Given the description of an element on the screen output the (x, y) to click on. 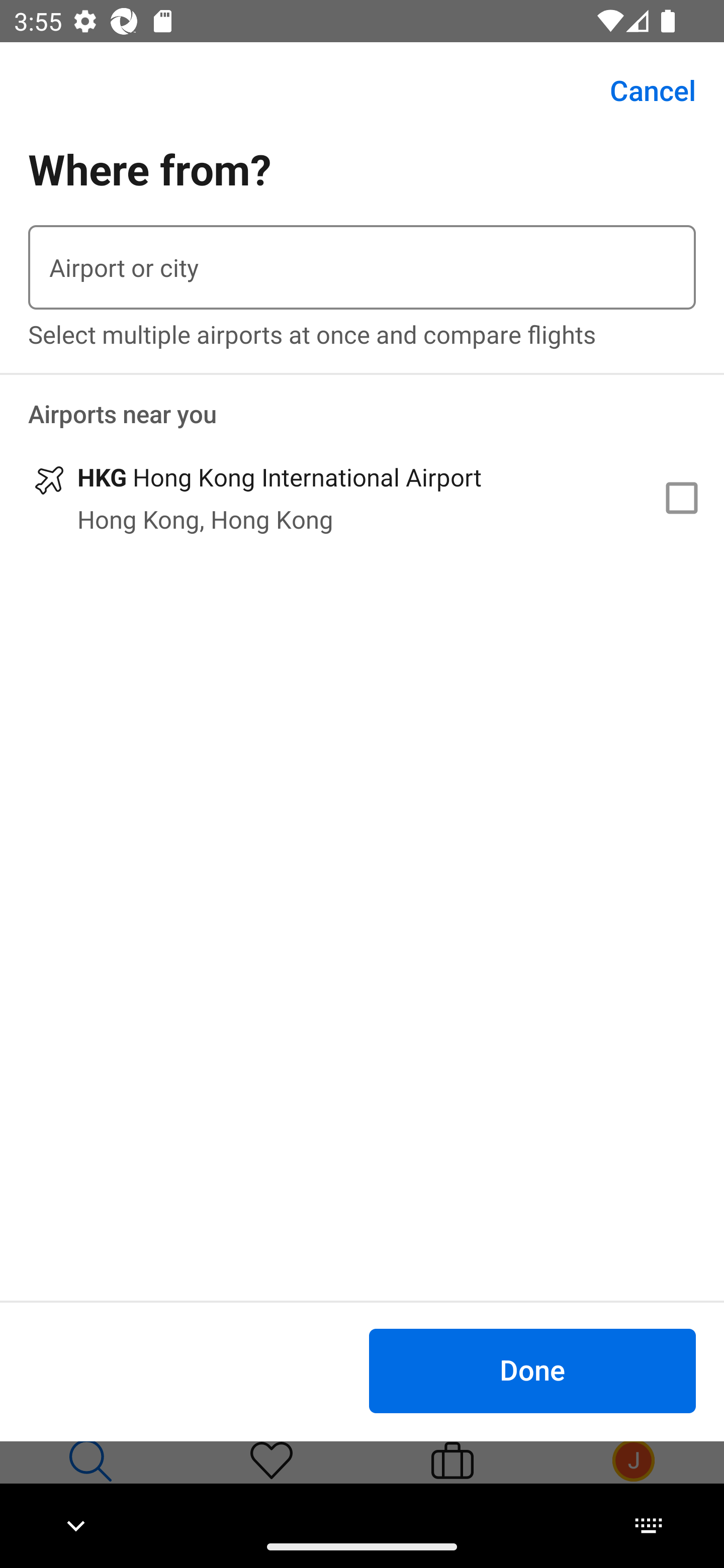
Cancel (641, 90)
Airport or city (361, 266)
Done (532, 1370)
